Given the description of an element on the screen output the (x, y) to click on. 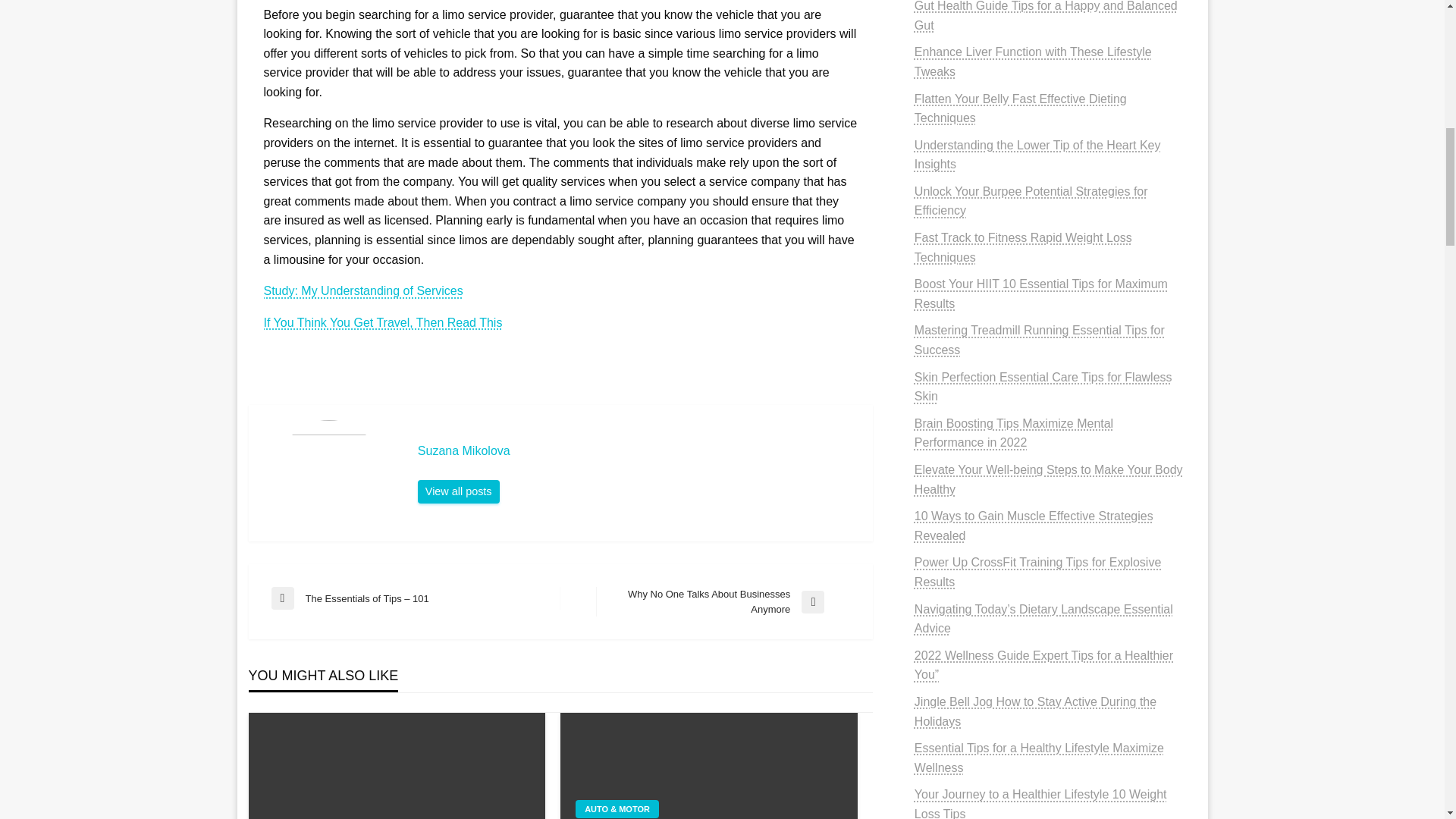
If You Think You Get Travel, Then Read This (382, 322)
View all posts (458, 491)
Study: My Understanding of Services (363, 290)
Suzana Mikolova (722, 601)
Suzana Mikolova (458, 491)
Suzana Mikolova (637, 450)
